Given the description of an element on the screen output the (x, y) to click on. 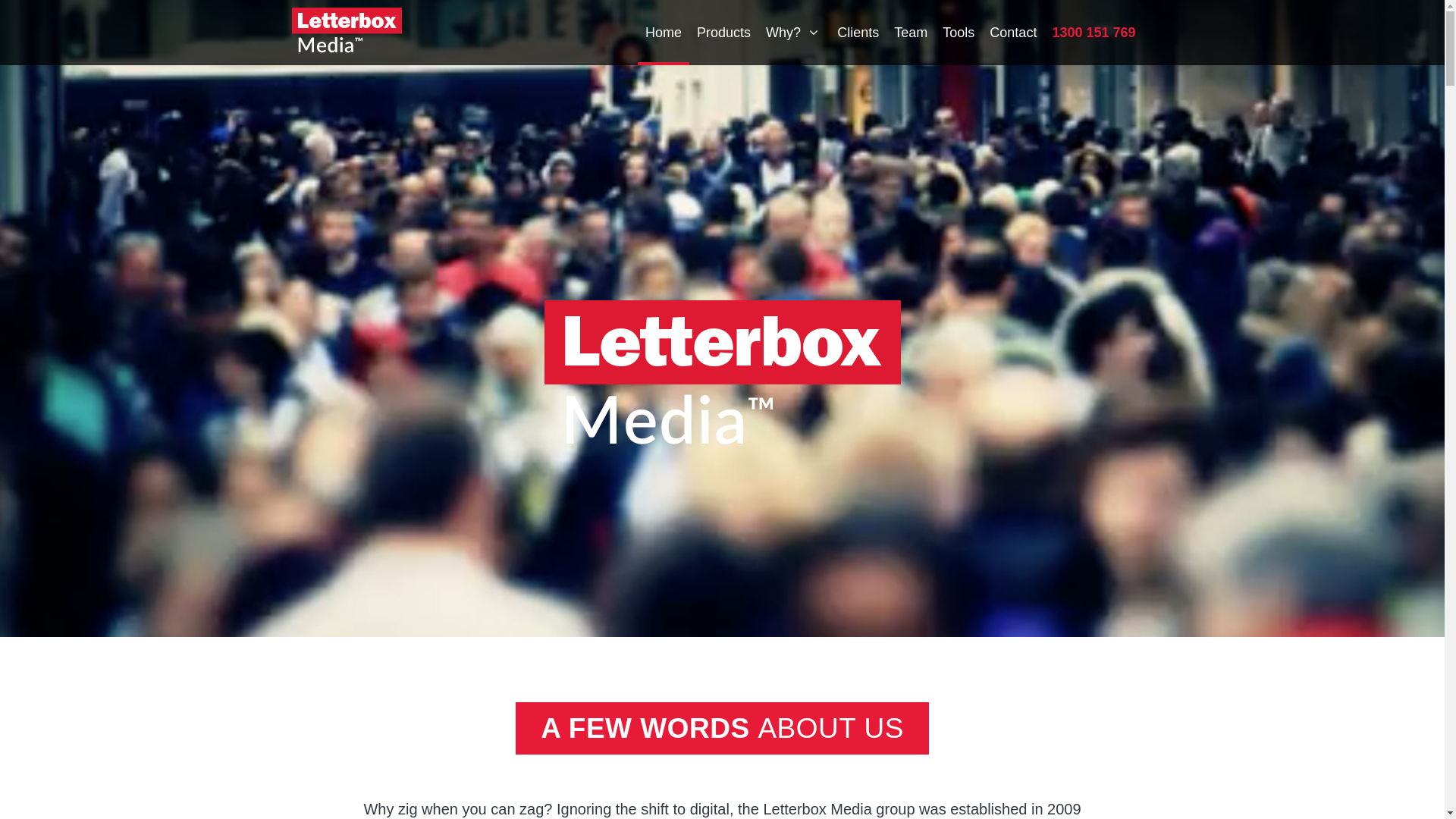
Tools Element type: text (958, 32)
1300 151 769 Element type: text (1093, 32)
Products Element type: text (723, 32)
Clients Element type: text (857, 32)
Team Element type: text (910, 32)
Home Element type: text (663, 32)
Contact Element type: text (1013, 32)
Why? Element type: text (793, 32)
